Given the description of an element on the screen output the (x, y) to click on. 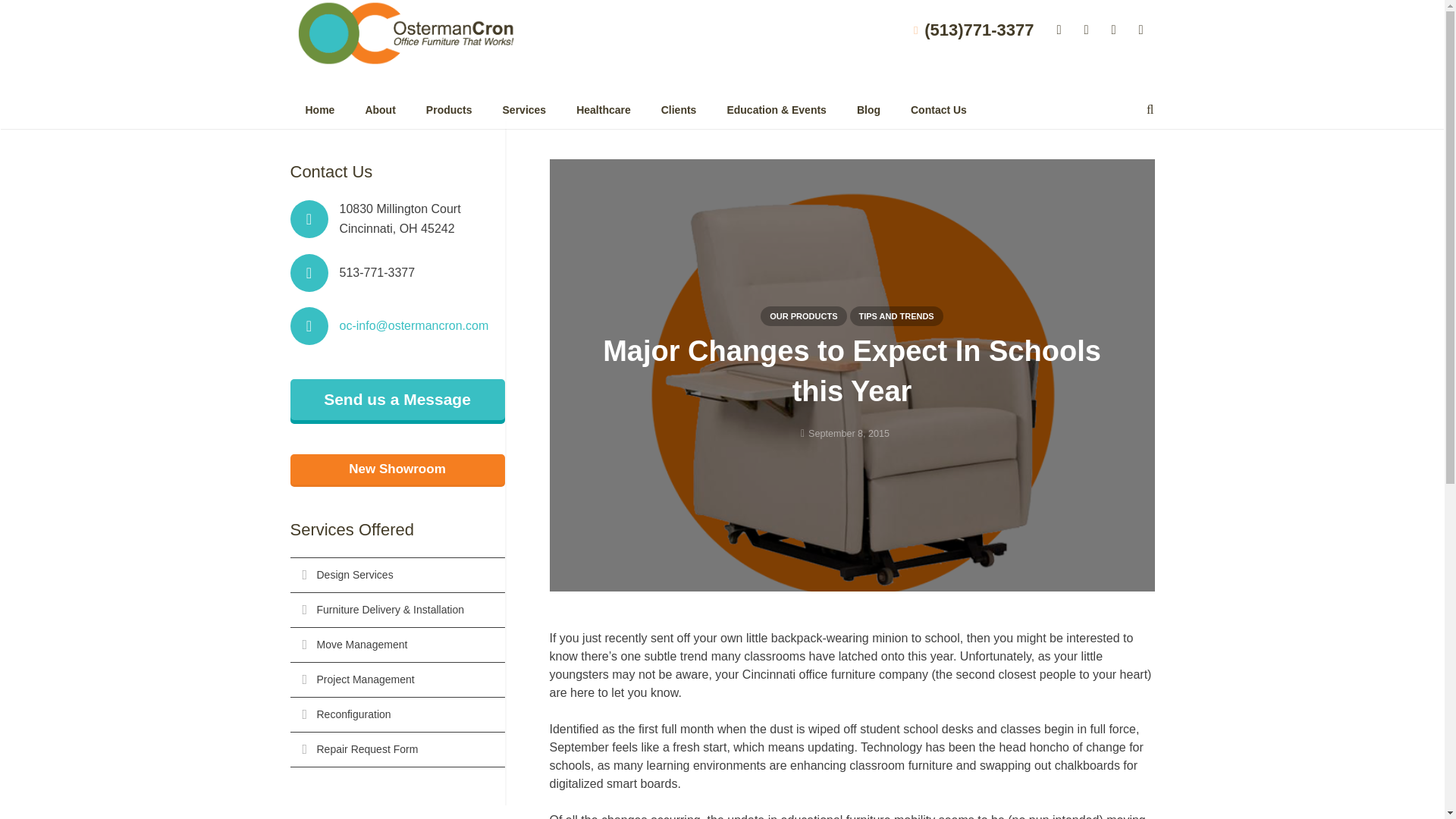
Clients (678, 109)
Healthcare (603, 109)
Products (448, 109)
Home (319, 109)
About (379, 109)
Services (524, 109)
